Given the description of an element on the screen output the (x, y) to click on. 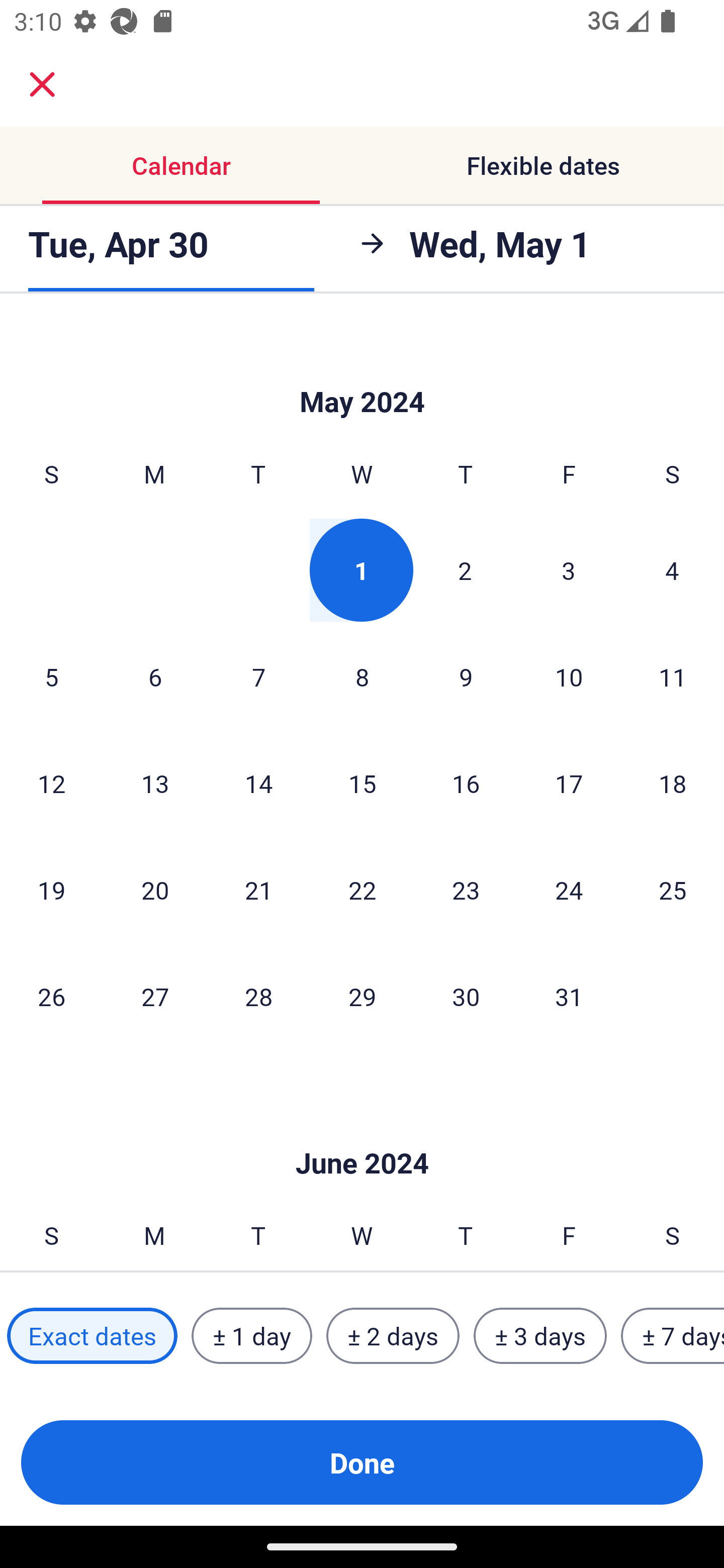
close. (42, 84)
Flexible dates (542, 164)
Skip to Done (362, 371)
2 Thursday, May 2, 2024 (464, 569)
3 Friday, May 3, 2024 (568, 569)
4 Saturday, May 4, 2024 (672, 569)
5 Sunday, May 5, 2024 (51, 676)
6 Monday, May 6, 2024 (155, 676)
7 Tuesday, May 7, 2024 (258, 676)
8 Wednesday, May 8, 2024 (362, 676)
9 Thursday, May 9, 2024 (465, 676)
10 Friday, May 10, 2024 (569, 676)
11 Saturday, May 11, 2024 (672, 676)
12 Sunday, May 12, 2024 (51, 783)
13 Monday, May 13, 2024 (155, 783)
14 Tuesday, May 14, 2024 (258, 783)
15 Wednesday, May 15, 2024 (362, 783)
16 Thursday, May 16, 2024 (465, 783)
17 Friday, May 17, 2024 (569, 783)
18 Saturday, May 18, 2024 (672, 783)
19 Sunday, May 19, 2024 (51, 889)
20 Monday, May 20, 2024 (155, 889)
21 Tuesday, May 21, 2024 (258, 889)
22 Wednesday, May 22, 2024 (362, 889)
23 Thursday, May 23, 2024 (465, 889)
24 Friday, May 24, 2024 (569, 889)
25 Saturday, May 25, 2024 (672, 889)
26 Sunday, May 26, 2024 (51, 996)
27 Monday, May 27, 2024 (155, 996)
28 Tuesday, May 28, 2024 (258, 996)
29 Wednesday, May 29, 2024 (362, 996)
30 Thursday, May 30, 2024 (465, 996)
31 Friday, May 31, 2024 (569, 996)
Skip to Done (362, 1133)
Exact dates (92, 1335)
± 1 day (251, 1335)
± 2 days (392, 1335)
± 3 days (539, 1335)
± 7 days (672, 1335)
Done (361, 1462)
